Given the description of an element on the screen output the (x, y) to click on. 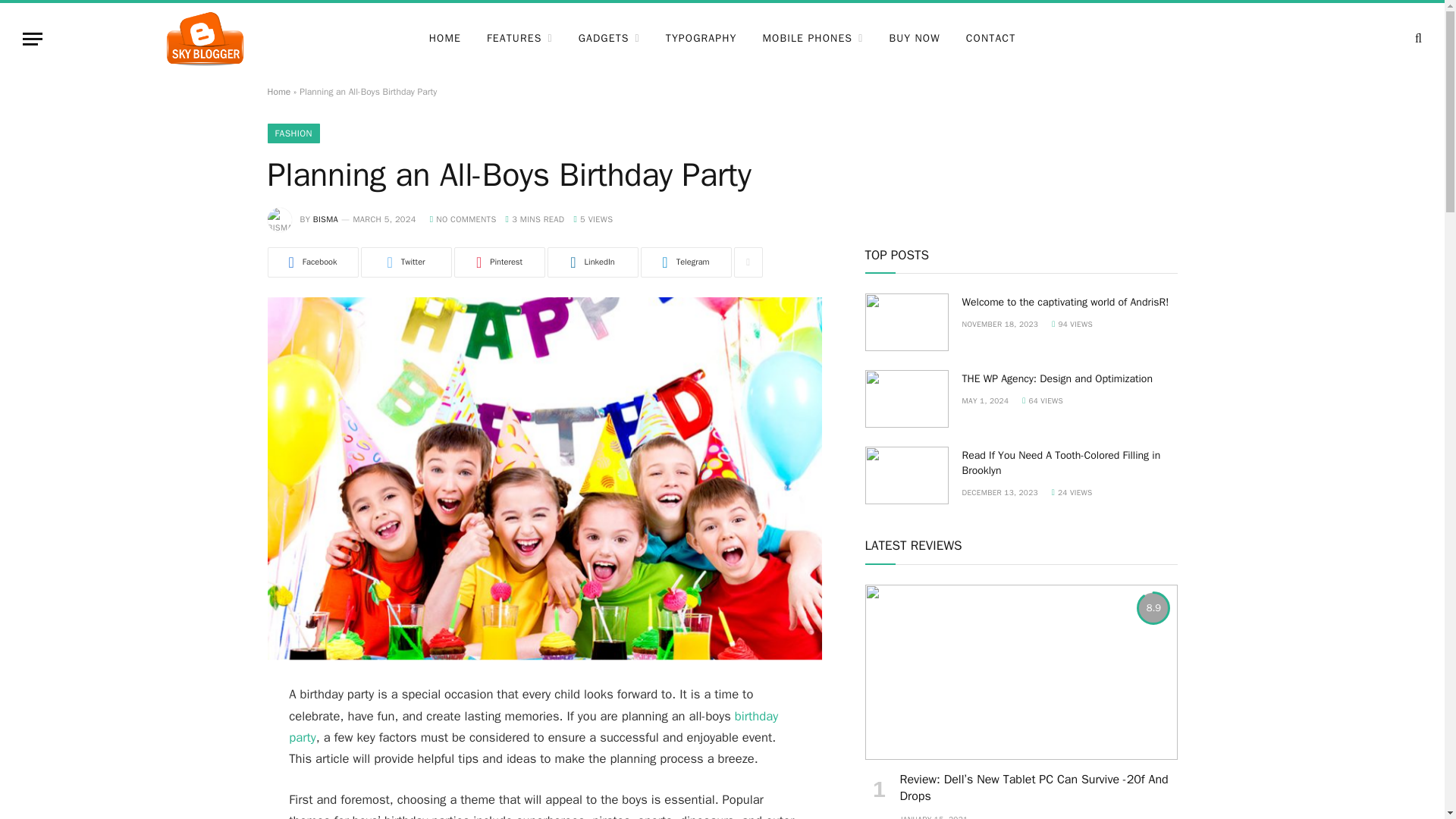
FEATURES (520, 38)
MOBILE PHONES (812, 38)
Sky Blogger (204, 38)
TYPOGRAPHY (700, 38)
GADGETS (609, 38)
